Given the description of an element on the screen output the (x, y) to click on. 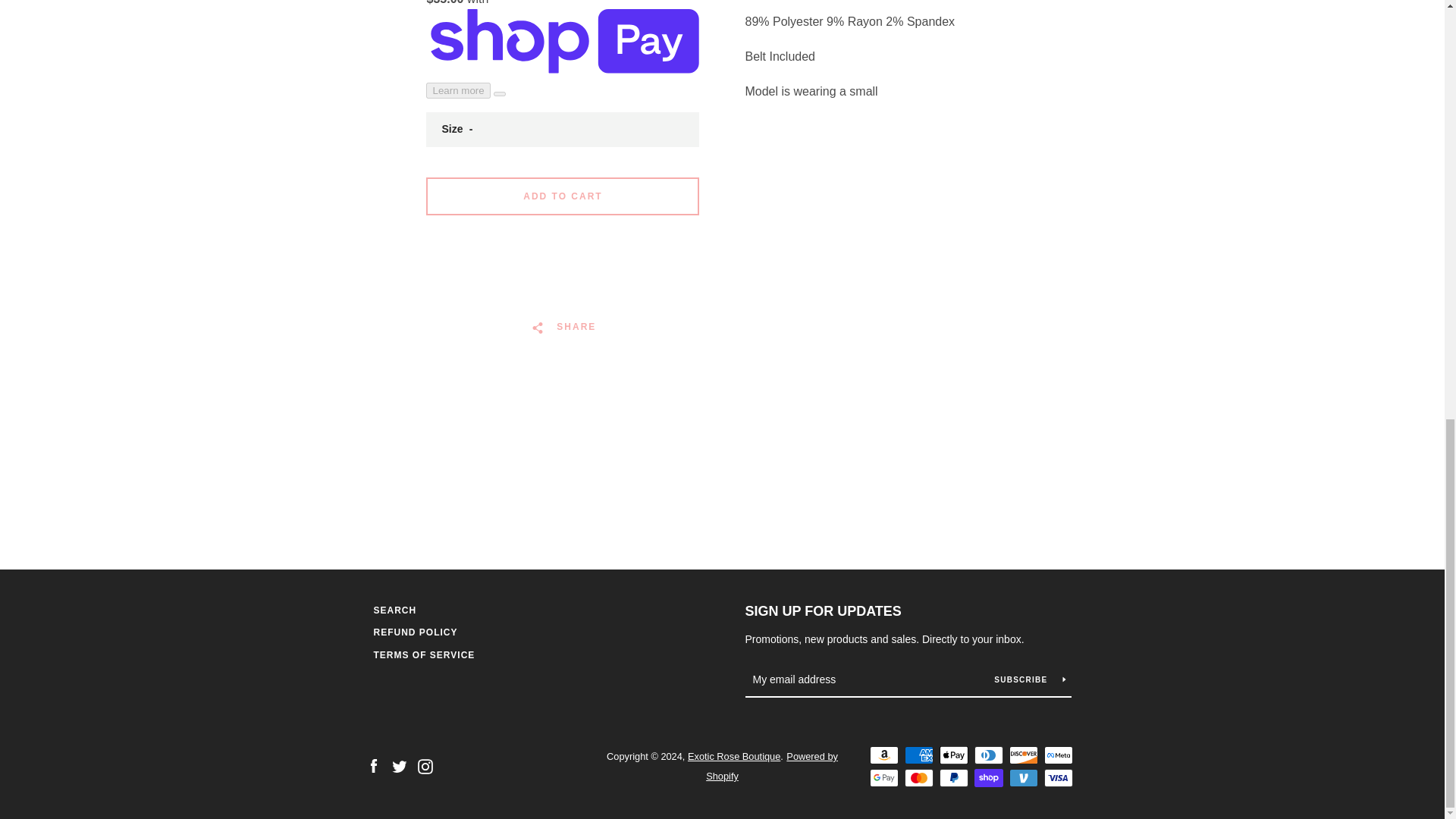
Meta Pay (1057, 755)
Venmo (1022, 778)
Exotic Rose Boutique on Twitter (399, 765)
PayPal (953, 778)
Google Pay (883, 778)
SHARE (563, 327)
Amazon (883, 755)
Exotic Rose Boutique on Facebook (372, 765)
Visa (1057, 778)
Exotic Rose Boutique on Instagram (424, 765)
Shop Pay (988, 778)
Apple Pay (953, 755)
American Express (918, 755)
Discover (1022, 755)
ADD TO CART (562, 196)
